Given the description of an element on the screen output the (x, y) to click on. 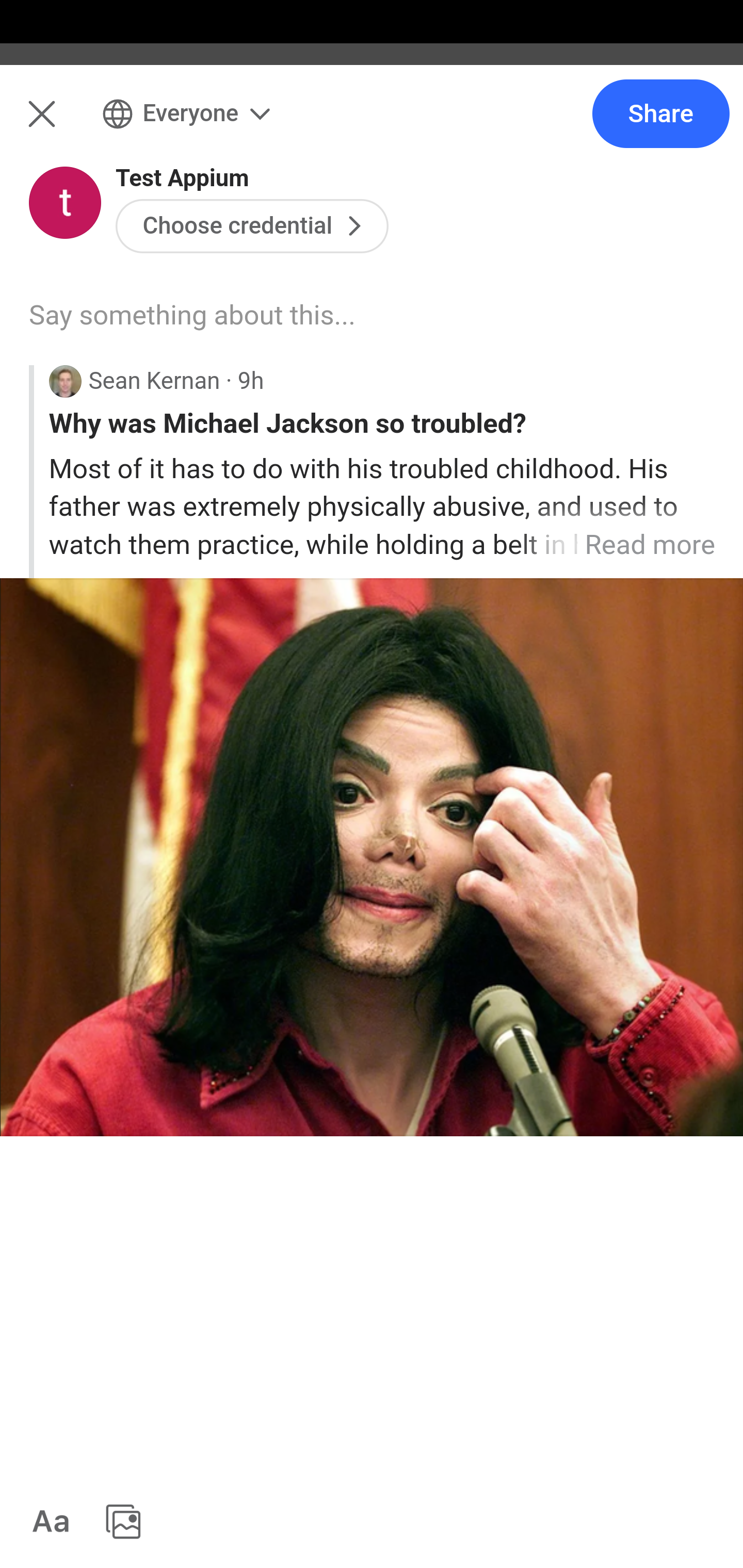
Me Following Search Add (371, 125)
Me (64, 125)
